Given the description of an element on the screen output the (x, y) to click on. 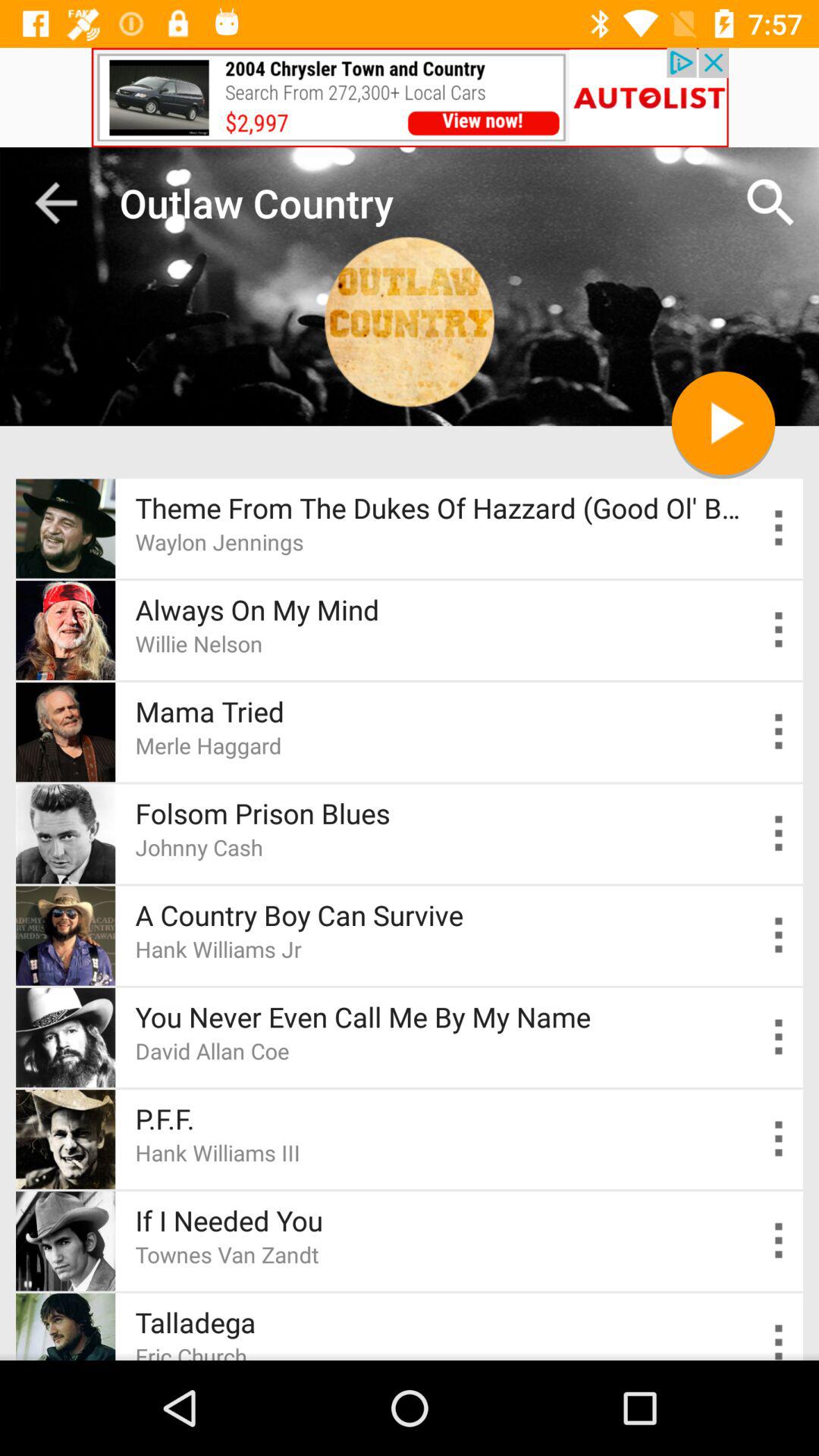
play tune (779, 1240)
